Given the description of an element on the screen output the (x, y) to click on. 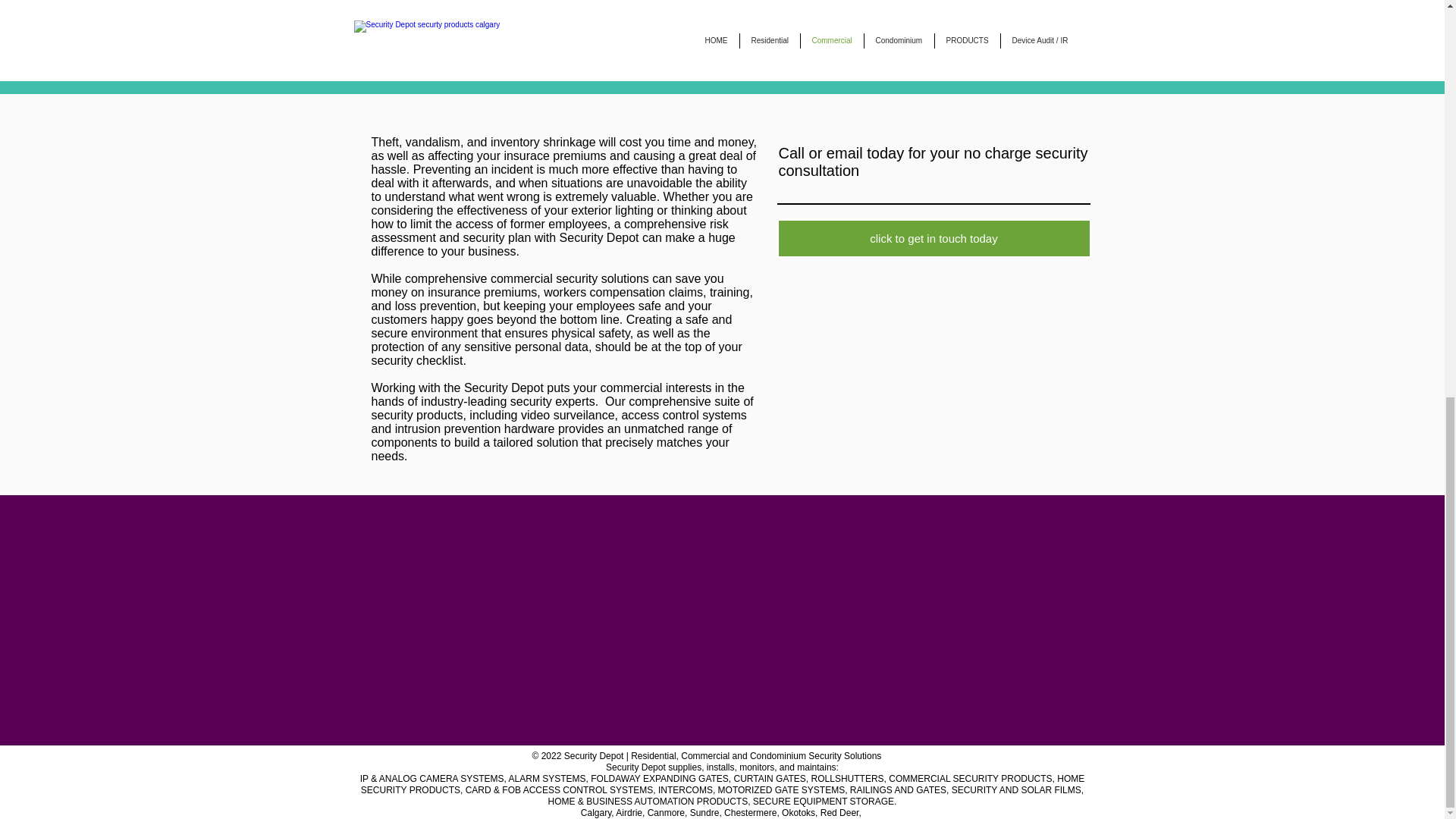
click to get in touch today (933, 238)
